Given the description of an element on the screen output the (x, y) to click on. 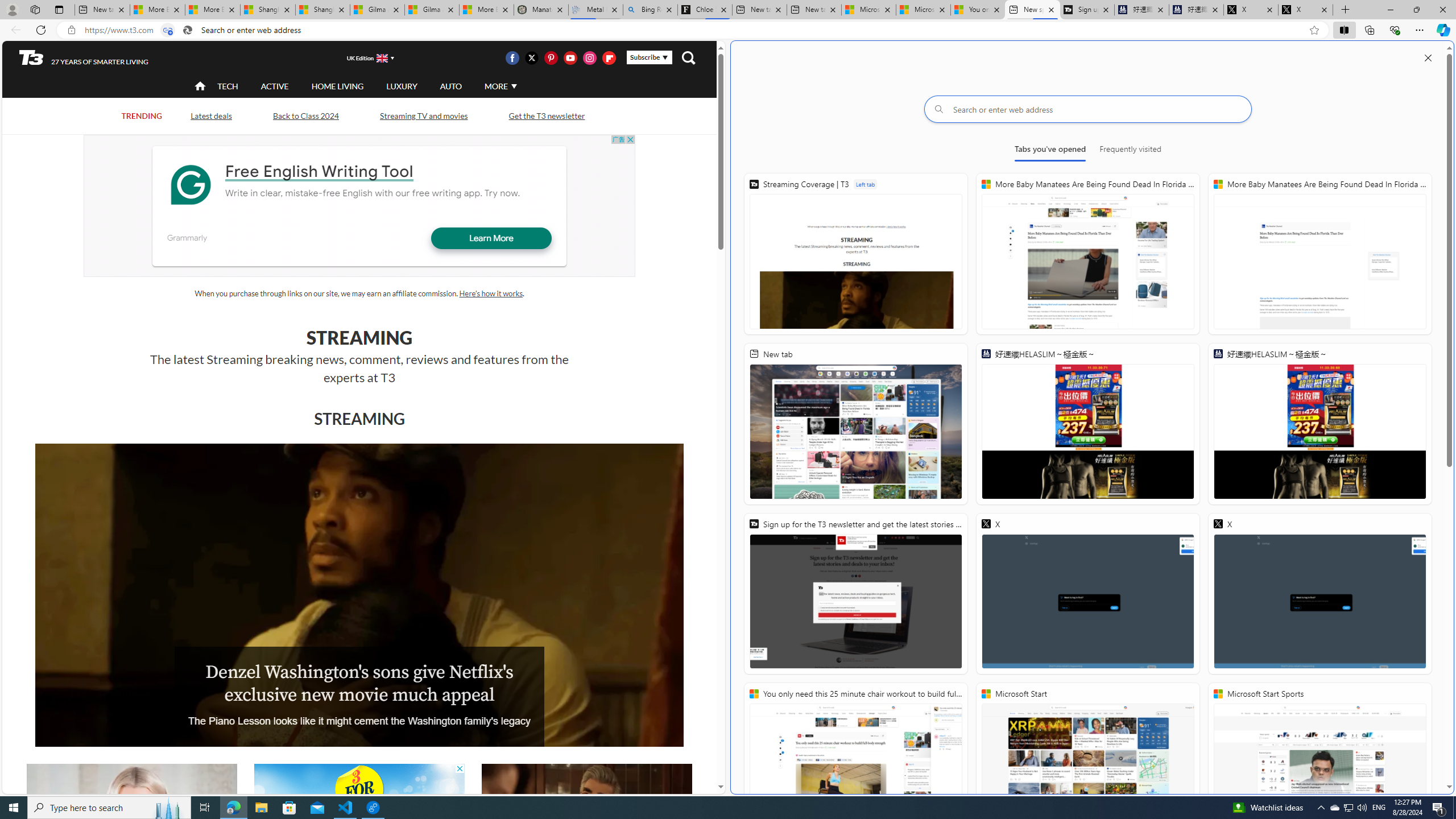
flag of UK (382, 57)
Manatee Mortality Statistics | FWC (541, 9)
Chloe Sorvino (704, 9)
home (200, 86)
Visit us on Youtube (569, 57)
AUTO (450, 85)
